Given the description of an element on the screen output the (x, y) to click on. 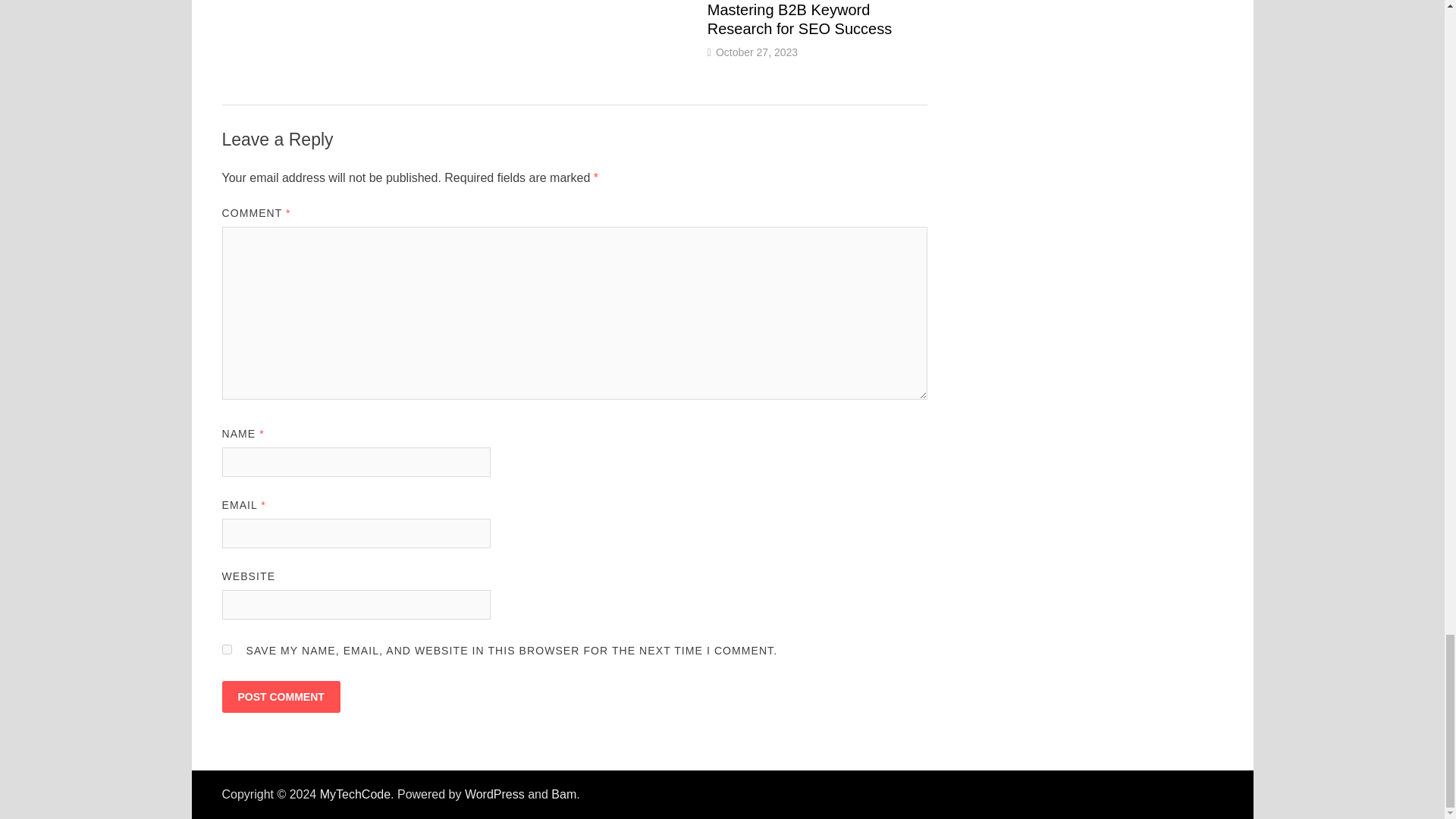
Post Comment (280, 696)
MyTechCode (355, 793)
yes (226, 649)
Mastering B2B Keyword Research for SEO Success (799, 18)
